Given the description of an element on the screen output the (x, y) to click on. 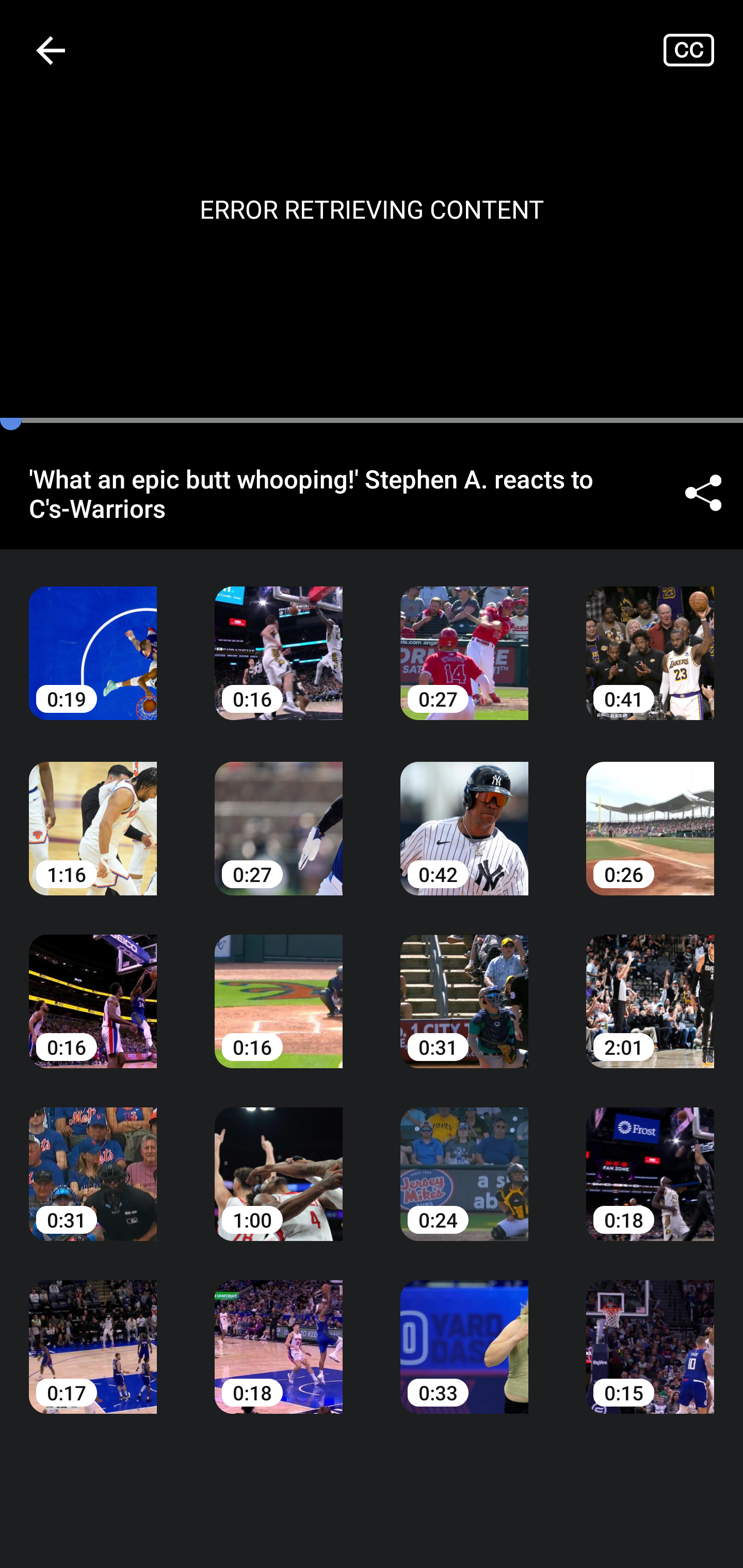
Navigate up (50, 50)
Closed captions  (703, 49)
Share © (703, 493)
0:19 (92, 637)
0:16 (278, 637)
0:27 (464, 637)
0:41 (650, 637)
1:16 (92, 813)
0:27 (278, 813)
0:42 (464, 813)
0:26 (650, 813)
0:16 (92, 987)
0:16 (278, 987)
0:31 (464, 987)
2:01 (650, 987)
0:31 (92, 1160)
1:00 (278, 1160)
0:24 (464, 1160)
0:18 (650, 1160)
0:17 (92, 1332)
0:18 (278, 1332)
0:33 (464, 1332)
0:15 (650, 1332)
